Given the description of an element on the screen output the (x, y) to click on. 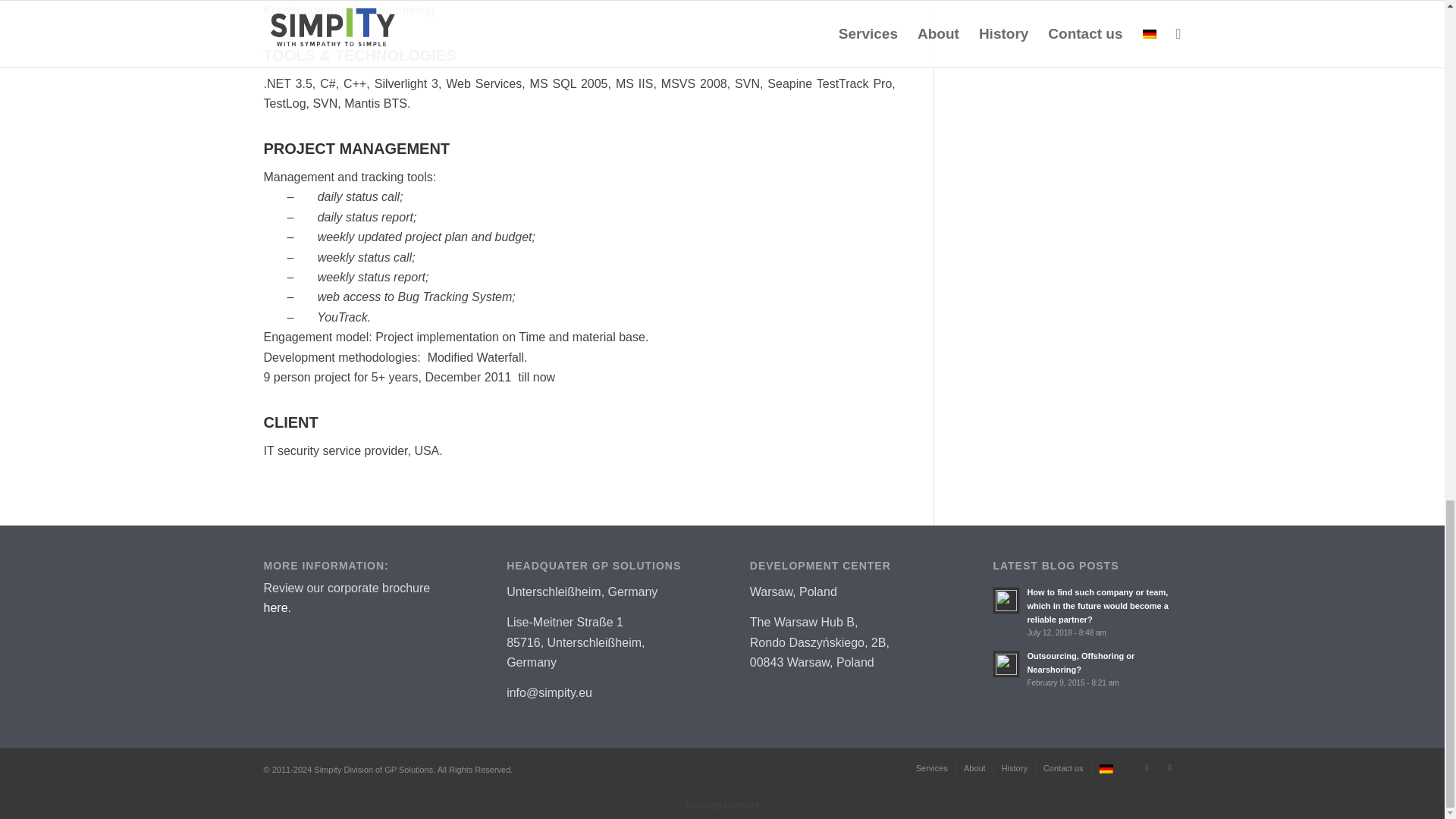
here (275, 607)
Services (931, 768)
Outsourcing, Offshoring or Nearshoring? (1086, 668)
Linkedin (1146, 766)
